Given the description of an element on the screen output the (x, y) to click on. 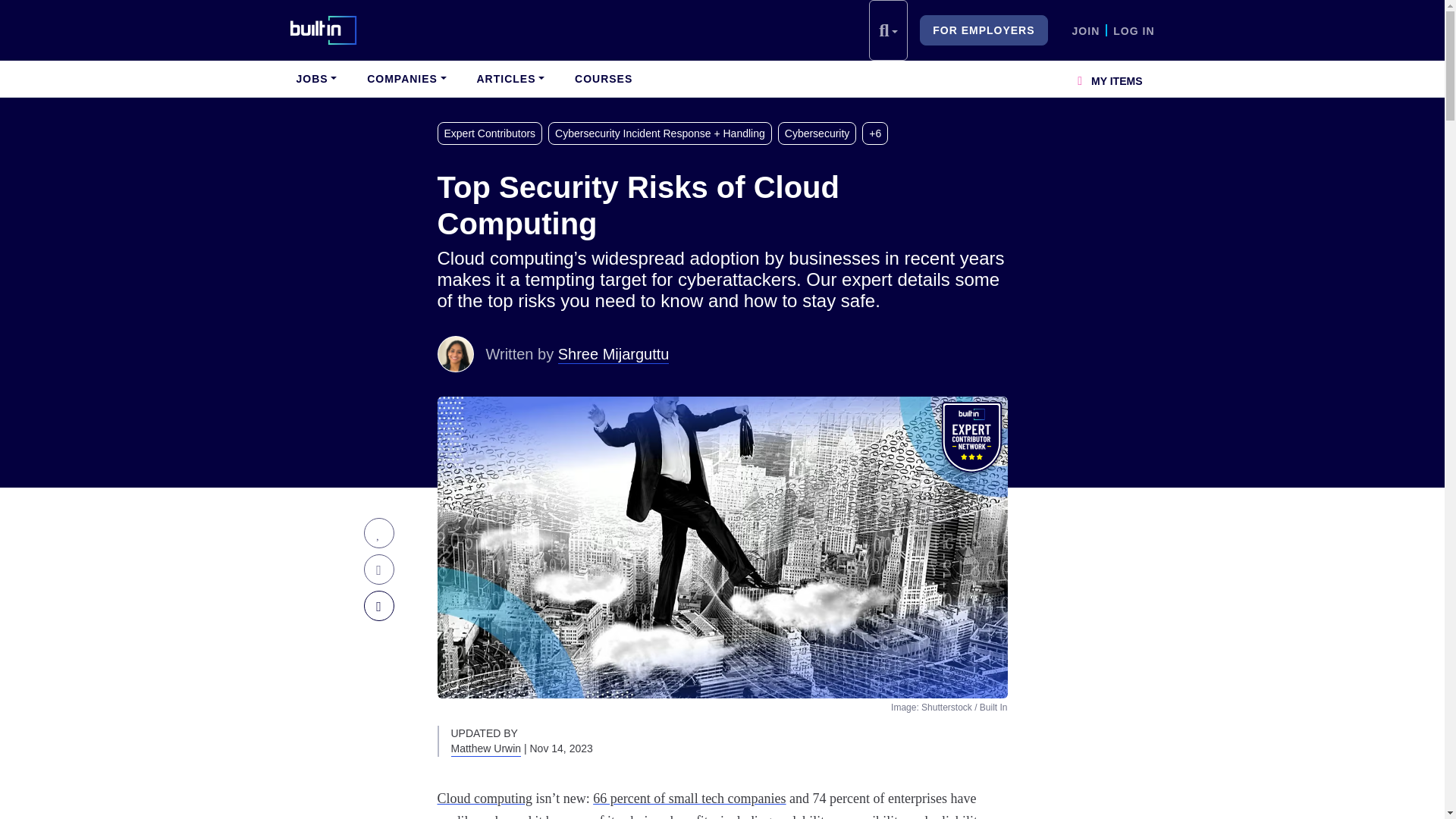
ARTICLES (510, 78)
LOG IN (1133, 30)
FOR EMPLOYERS (983, 30)
Expert Contributors (492, 133)
JOBS (315, 78)
Shree Mijarguttu (455, 353)
Cybersecurity (820, 133)
JOIN (1085, 30)
COMPANIES (406, 78)
